Given the description of an element on the screen output the (x, y) to click on. 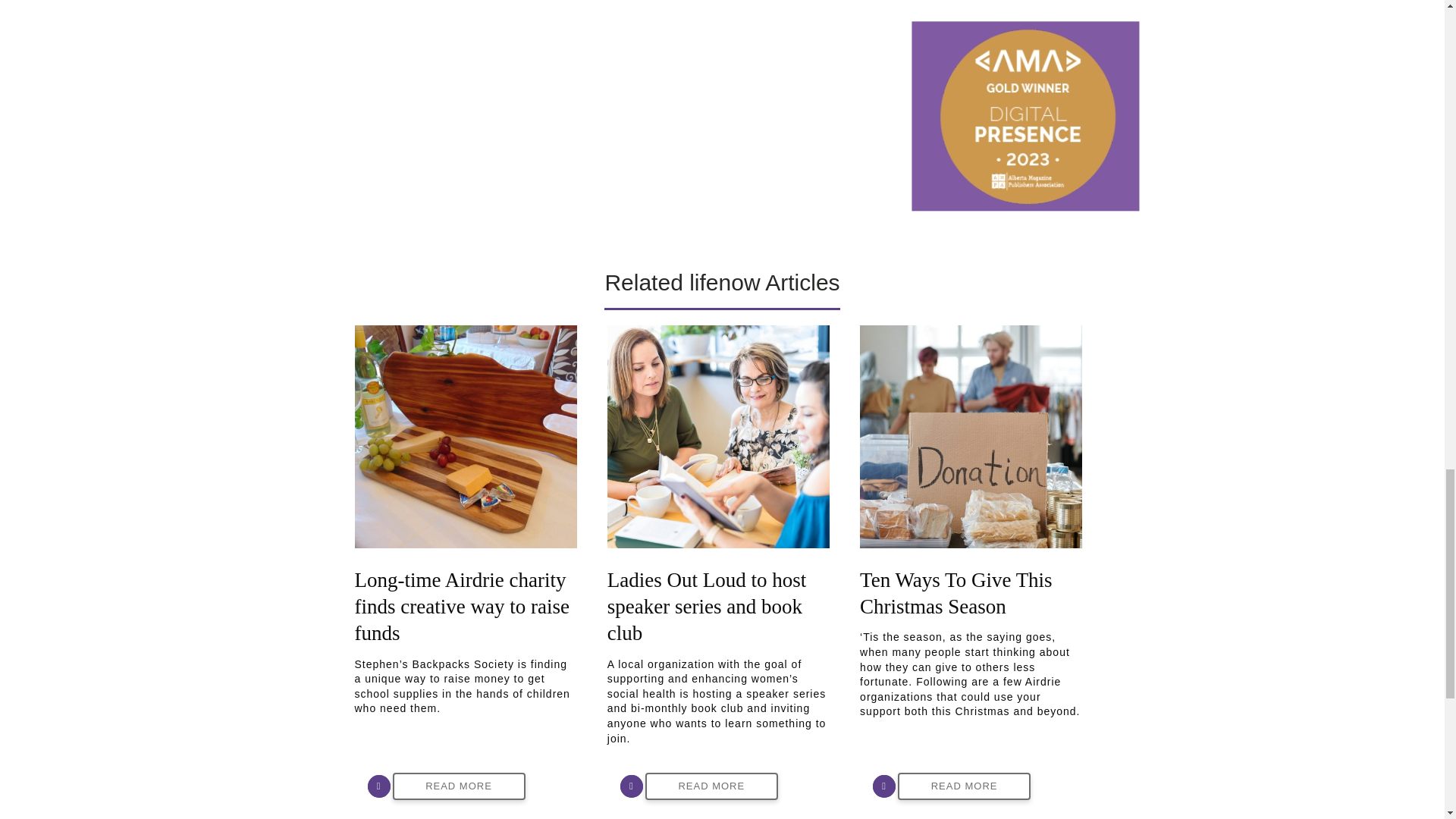
Ten Ways To Give This Christmas Season (956, 593)
Ten Ways To Give This Christmas Season (956, 593)
Long-time Airdrie charity finds creative way to raise funds (465, 436)
Ladies Out Loud to host speaker series and book club (718, 436)
Long-time Airdrie charity finds creative way to raise funds (462, 606)
READ MORE (711, 786)
Ladies Out Loud to host speaker series and book club (706, 606)
READ MORE (459, 786)
READ MORE (964, 786)
Ten Ways To Give This Christmas Season (970, 436)
Long-time Airdrie charity finds creative way to raise funds (462, 606)
Ladies Out Loud to host speaker series and book club (706, 606)
